Given the description of an element on the screen output the (x, y) to click on. 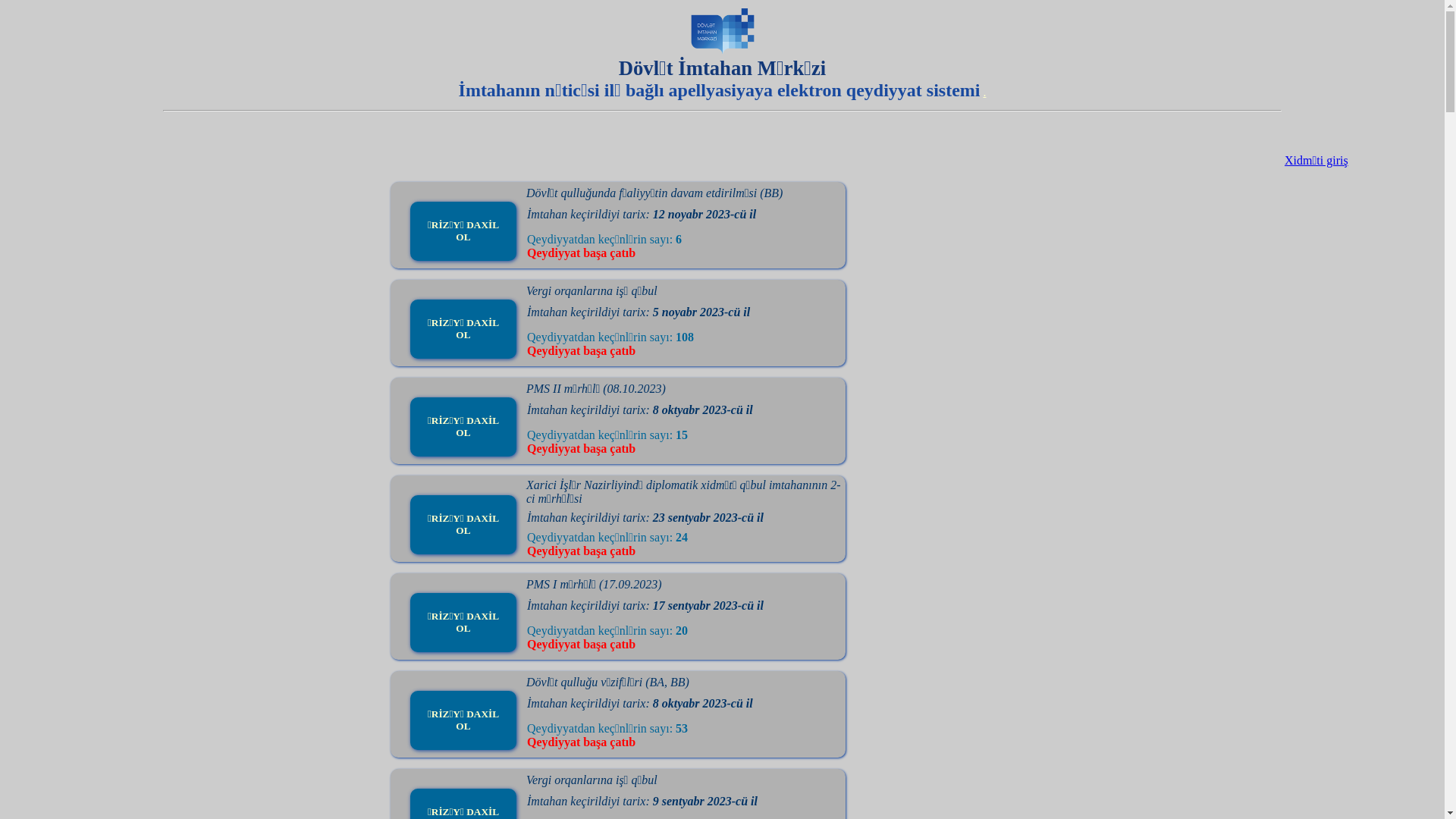
. Element type: text (983, 91)
